Given the description of an element on the screen output the (x, y) to click on. 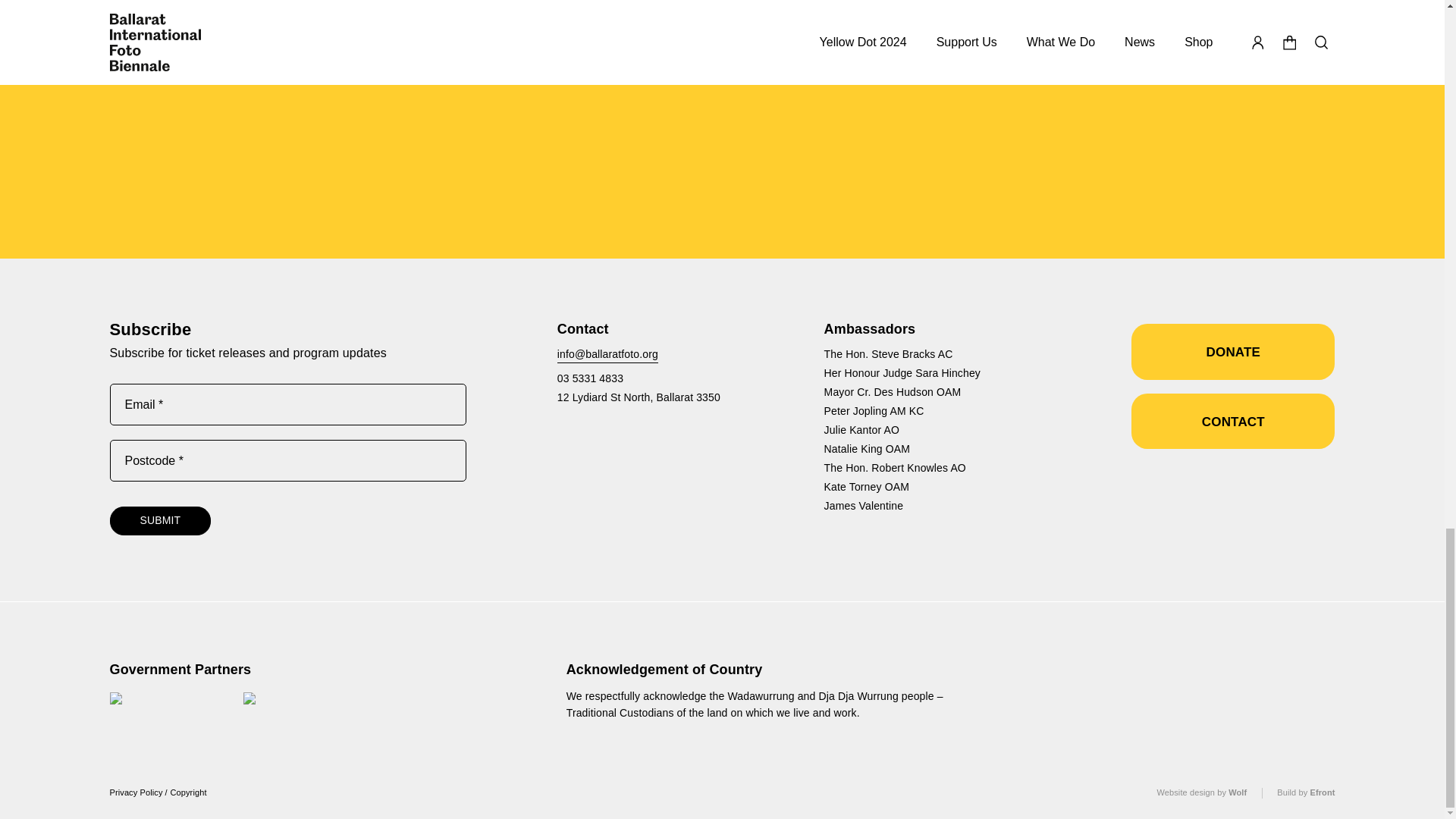
Submit (160, 520)
